Given the description of an element on the screen output the (x, y) to click on. 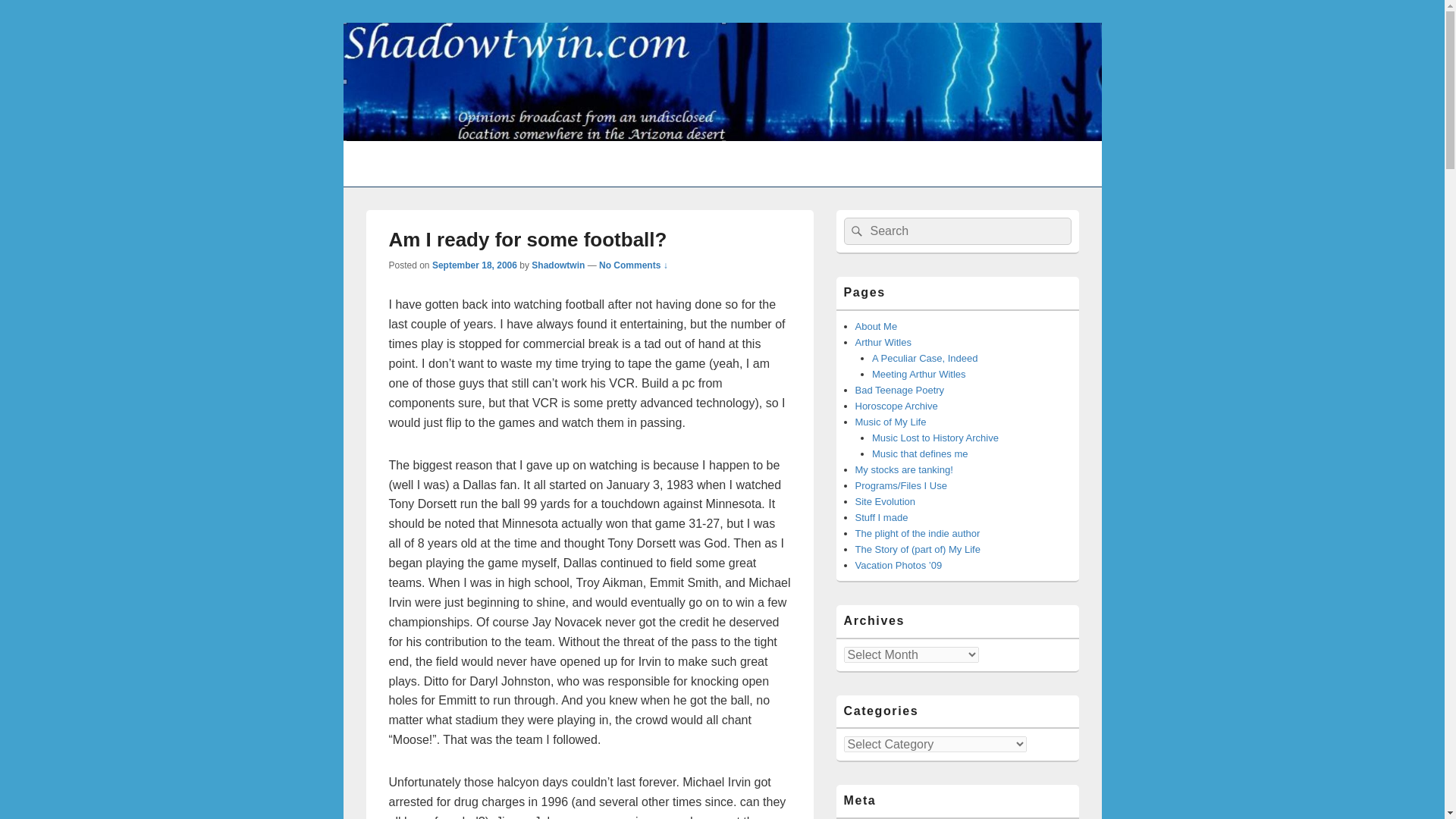
Bad Teenage Poetry (900, 389)
My stocks are tanking! (904, 469)
Search for: (956, 230)
View all posts by Shadowtwin (558, 265)
7:09 pm (474, 265)
Music Lost to History Archive (935, 437)
Site Evolution (885, 501)
September 18, 2006 (474, 265)
About Me (877, 326)
The plight of the indie author (917, 532)
Music that defines me (920, 453)
Music of My Life (891, 421)
Shadowtwin (558, 265)
Meeting Arthur Witles (919, 374)
Horoscope Archive (896, 405)
